Given the description of an element on the screen output the (x, y) to click on. 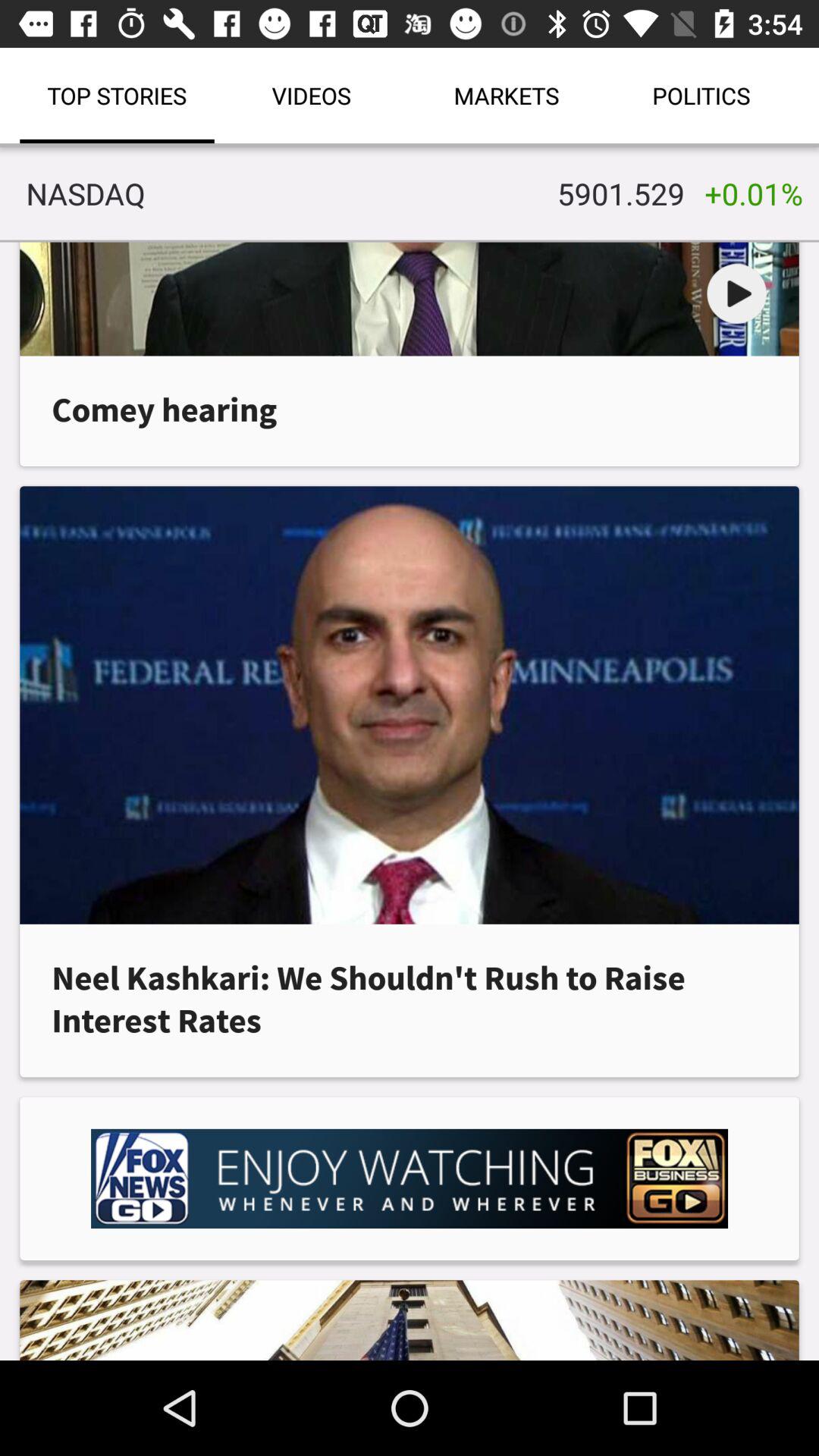
go to advertising partner (409, 1178)
